Given the description of an element on the screen output the (x, y) to click on. 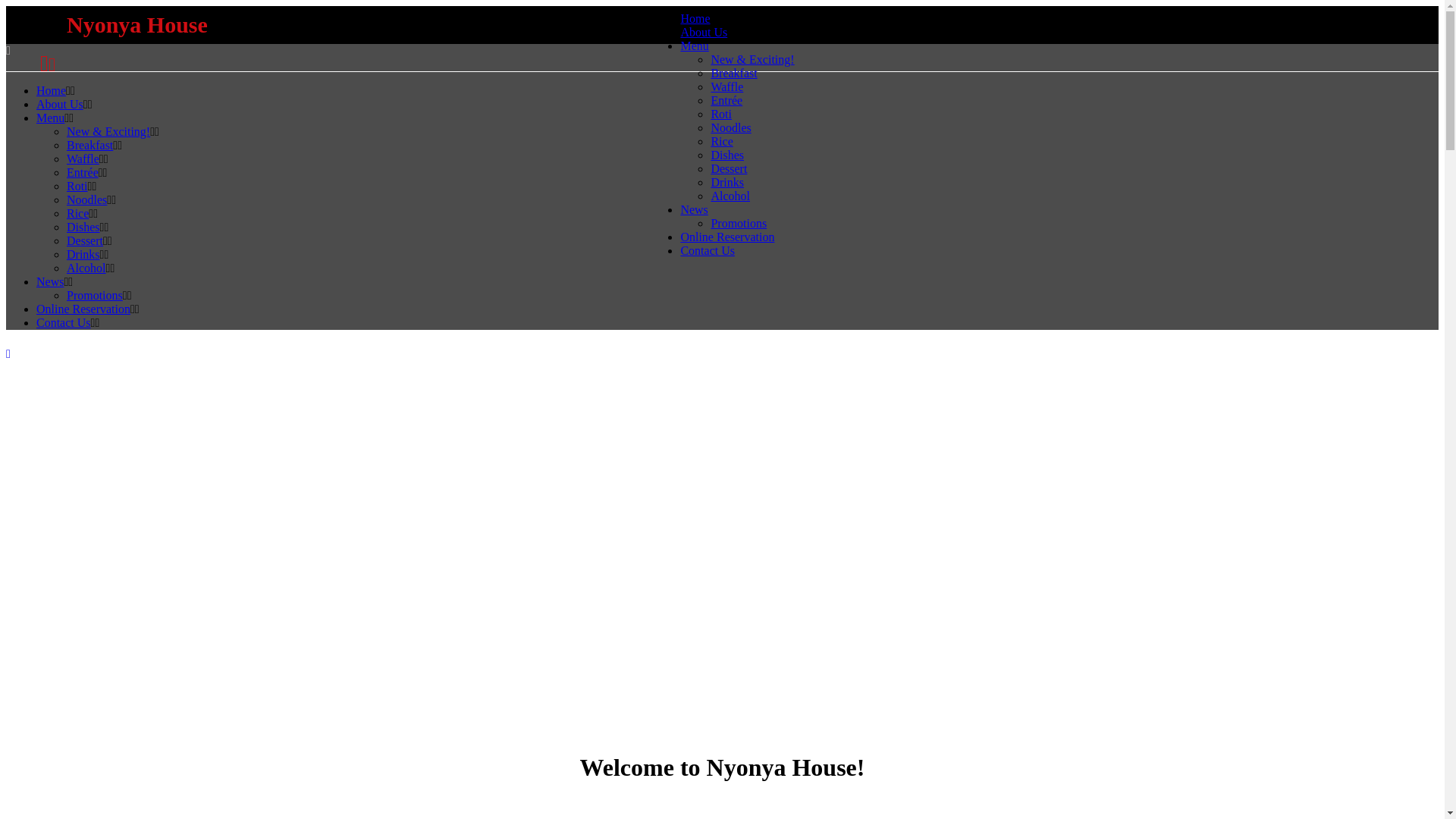
Alcohol Element type: text (86, 267)
Menu Element type: text (694, 45)
Online Reservation Element type: text (727, 236)
Dishes Element type: text (726, 154)
Drinks Element type: text (83, 253)
Breakfast Element type: text (89, 144)
Contact Us Element type: text (707, 250)
Home Element type: text (50, 90)
Alcohol Element type: text (729, 195)
Online Reservation Element type: text (83, 308)
About Us Element type: text (703, 31)
Noodles Element type: text (730, 127)
Noodles Element type: text (86, 199)
About Us Element type: text (59, 103)
Waffle Element type: text (726, 86)
Rice Element type: text (721, 140)
Home Element type: text (694, 18)
New & Exciting! Element type: text (108, 131)
News Element type: text (49, 281)
Dessert Element type: text (84, 240)
Promotions Element type: text (94, 294)
Contact Us Element type: text (63, 322)
Roti Element type: text (720, 113)
New & Exciting! Element type: text (751, 59)
Promotions Element type: text (738, 222)
Dessert Element type: text (728, 168)
Roti Element type: text (76, 185)
Dishes Element type: text (83, 226)
Waffle Element type: text (82, 158)
Drinks Element type: text (726, 181)
Menu Element type: text (50, 117)
Rice Element type: text (77, 213)
News Element type: text (693, 209)
Breakfast Element type: text (733, 72)
